Given the description of an element on the screen output the (x, y) to click on. 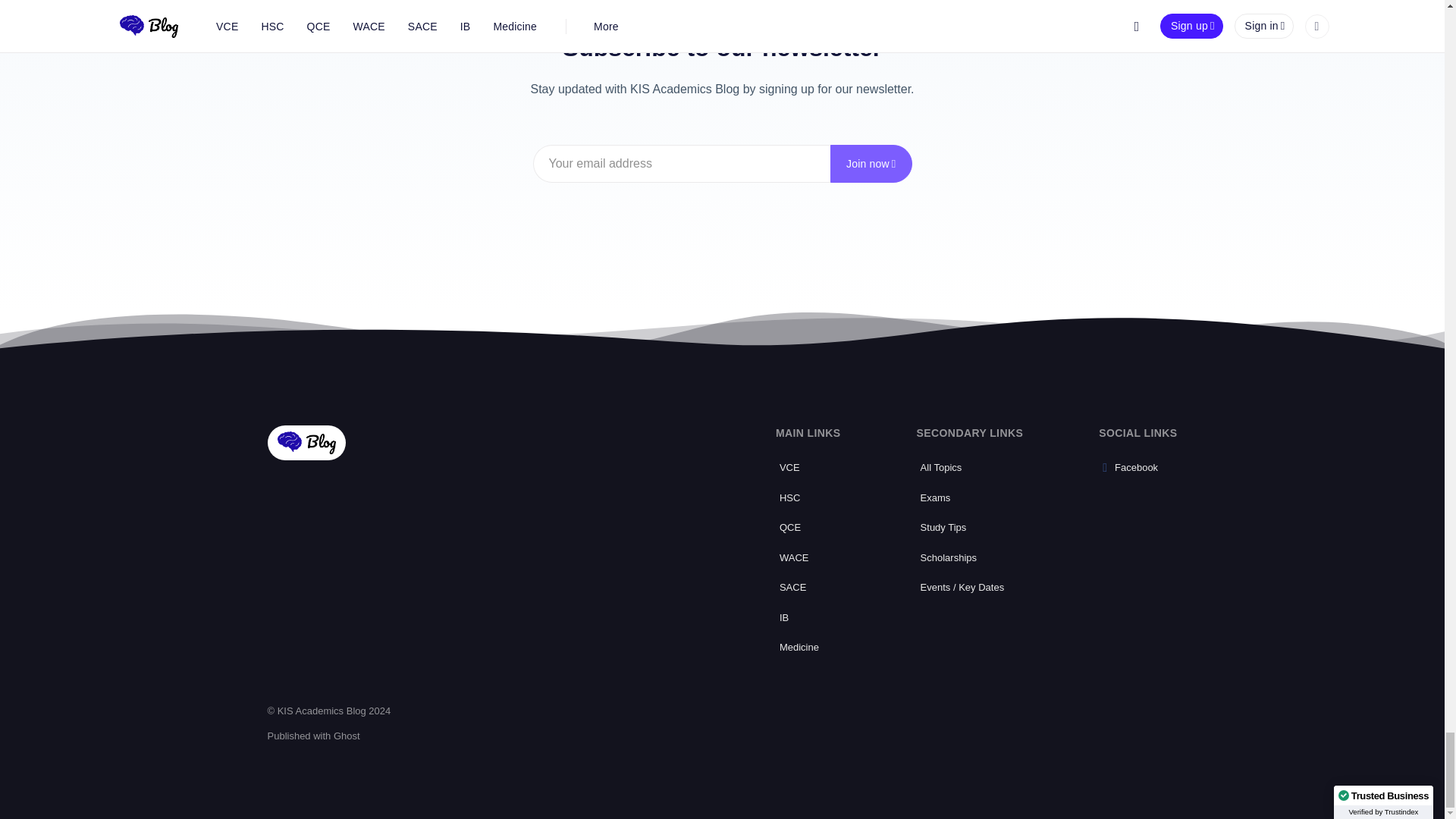
KIS Academics Blog (306, 442)
